Given the description of an element on the screen output the (x, y) to click on. 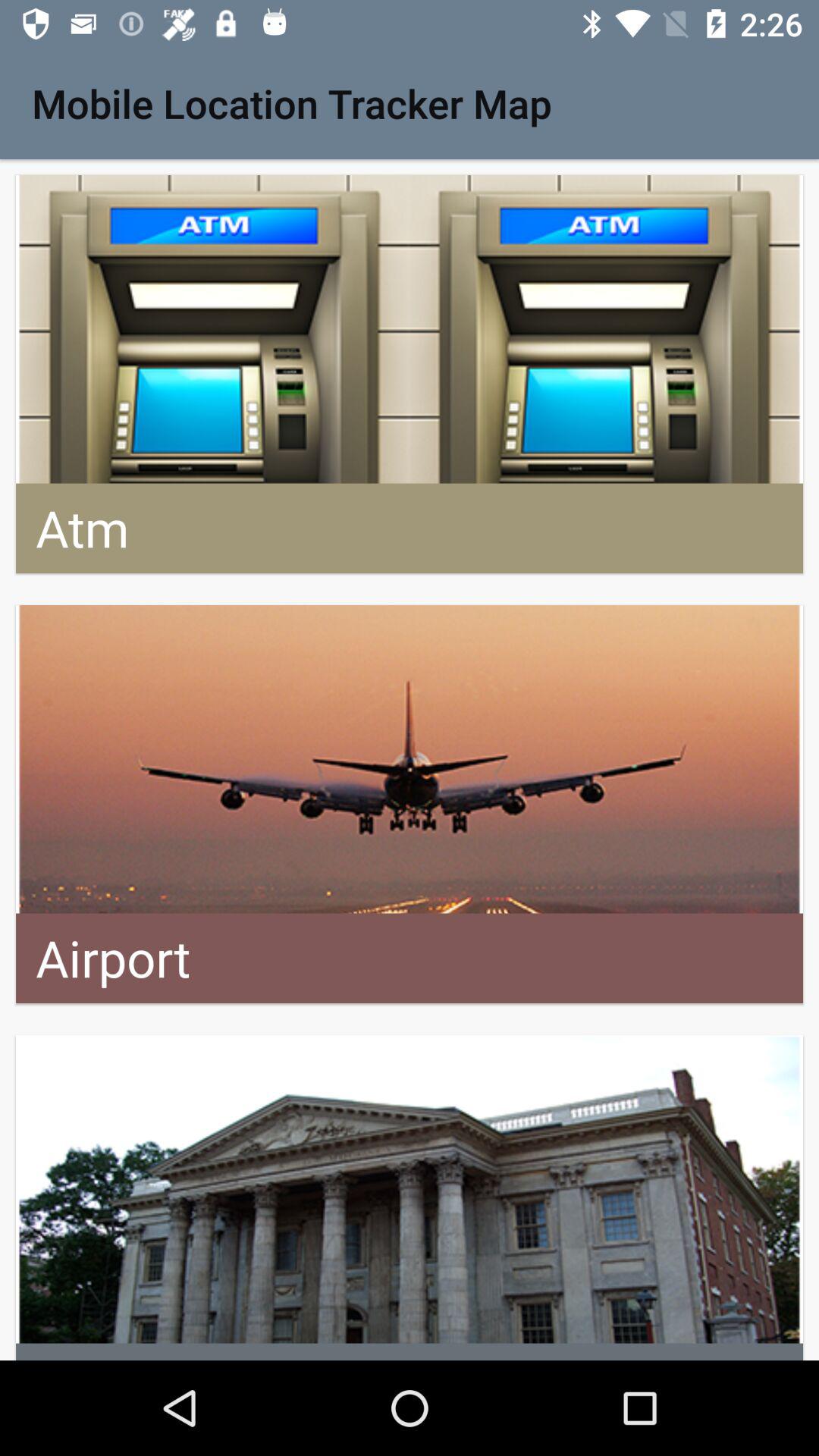
select image (409, 1197)
